Given the description of an element on the screen output the (x, y) to click on. 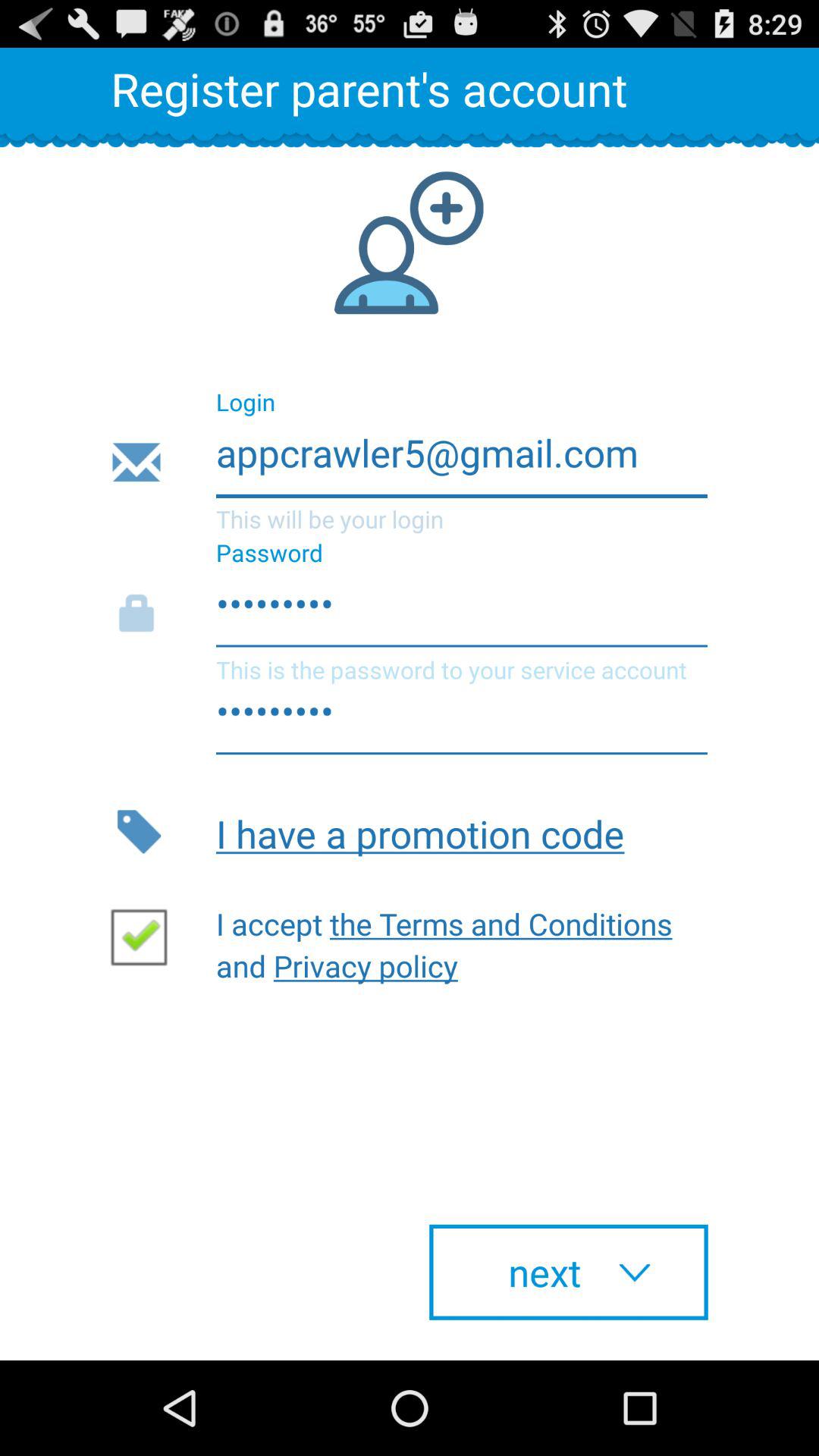
turn off the item above the crowd3116 item (408, 462)
